Given the description of an element on the screen output the (x, y) to click on. 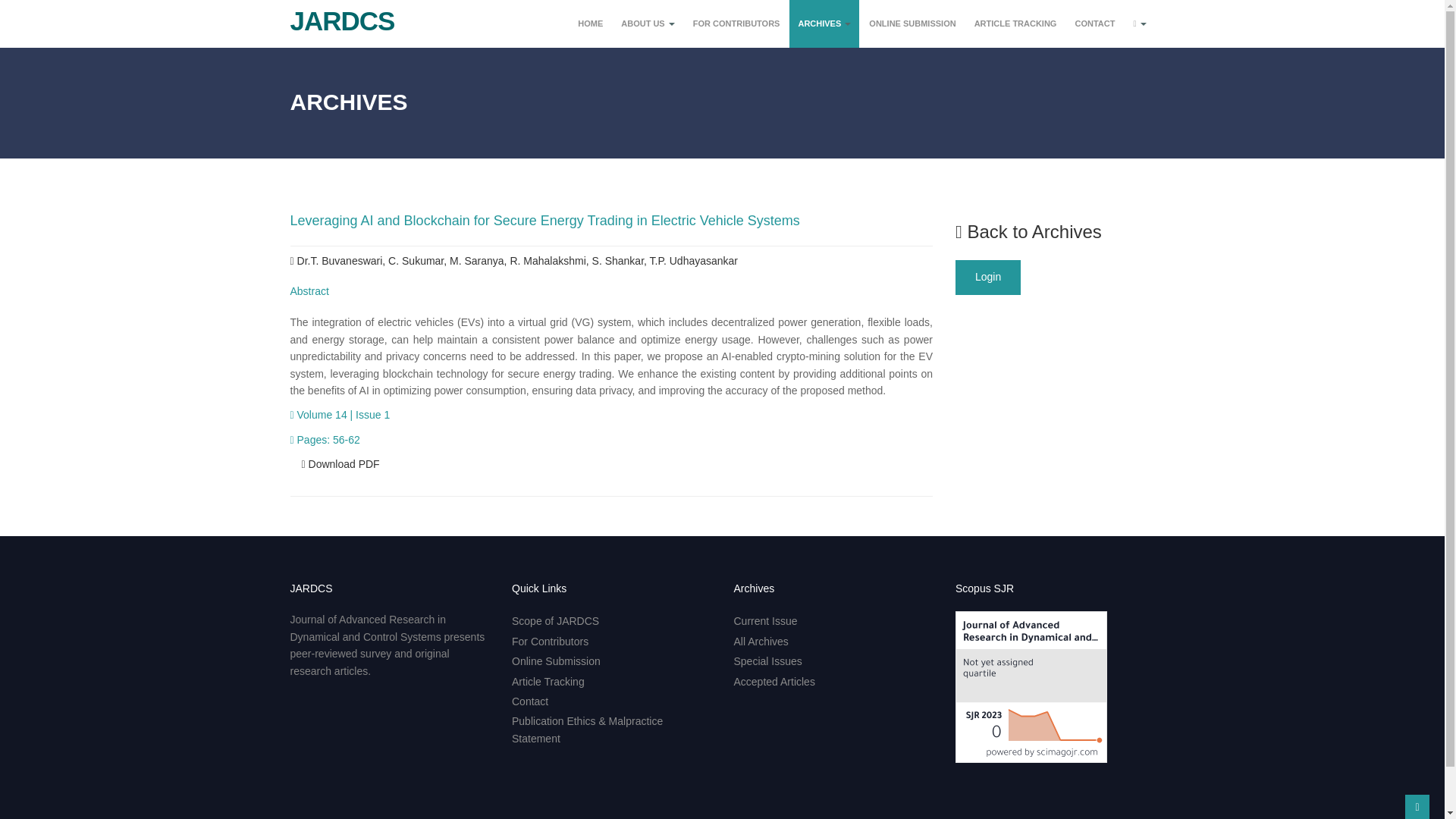
Current Issue (765, 621)
ONLINE SUBMISSION (911, 23)
Contact (530, 701)
JARDCS (336, 14)
ARCHIVES (824, 23)
ARTICLE TRACKING (1015, 23)
Article Tracking (548, 681)
For Contributors (550, 641)
Login (987, 277)
Download PDF (340, 463)
